Given the description of an element on the screen output the (x, y) to click on. 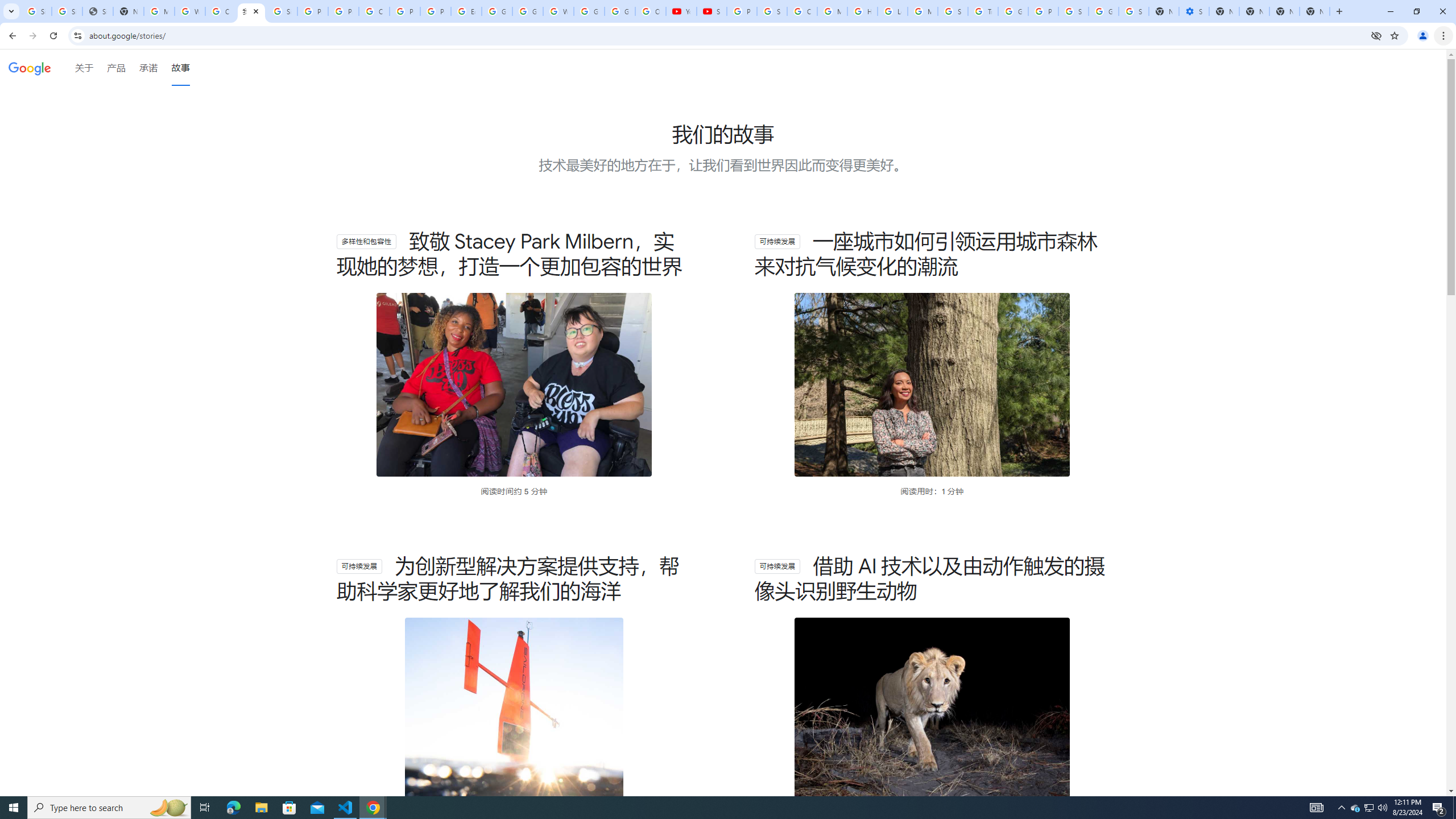
Create your Google Account (220, 11)
